Given the description of an element on the screen output the (x, y) to click on. 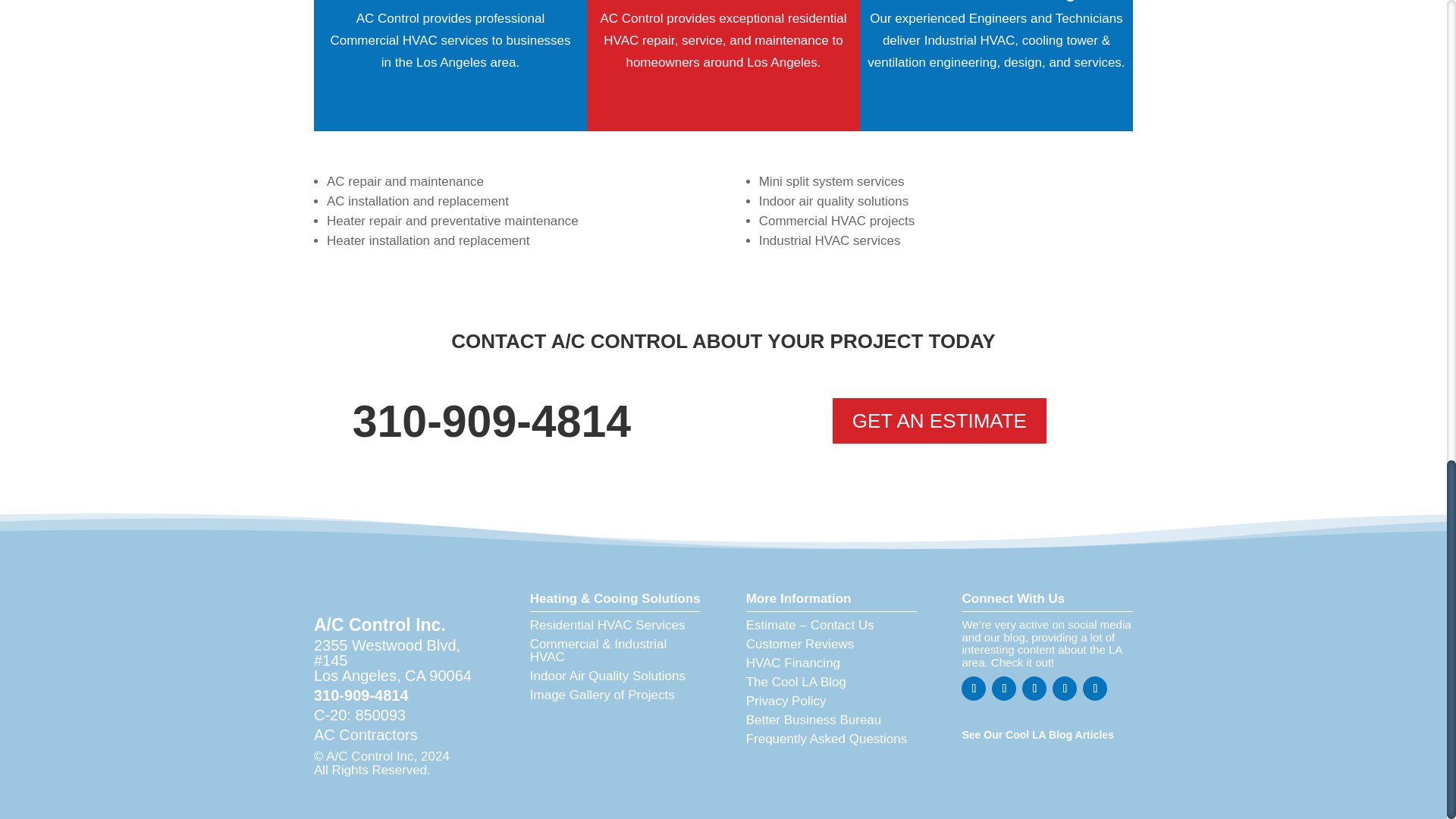
310-909-4814 (361, 695)
Los Angeles, CA 90064 (392, 675)
Follow on Youtube (1064, 688)
Follow on LinkedIn (1034, 688)
ac-control-logo (379, 588)
Follow on Facebook (972, 688)
Frequently Asked Questions (826, 739)
Privacy Policy (786, 700)
GET AN ESTIMATE (939, 420)
verteran-approved (564, 734)
